Given the description of an element on the screen output the (x, y) to click on. 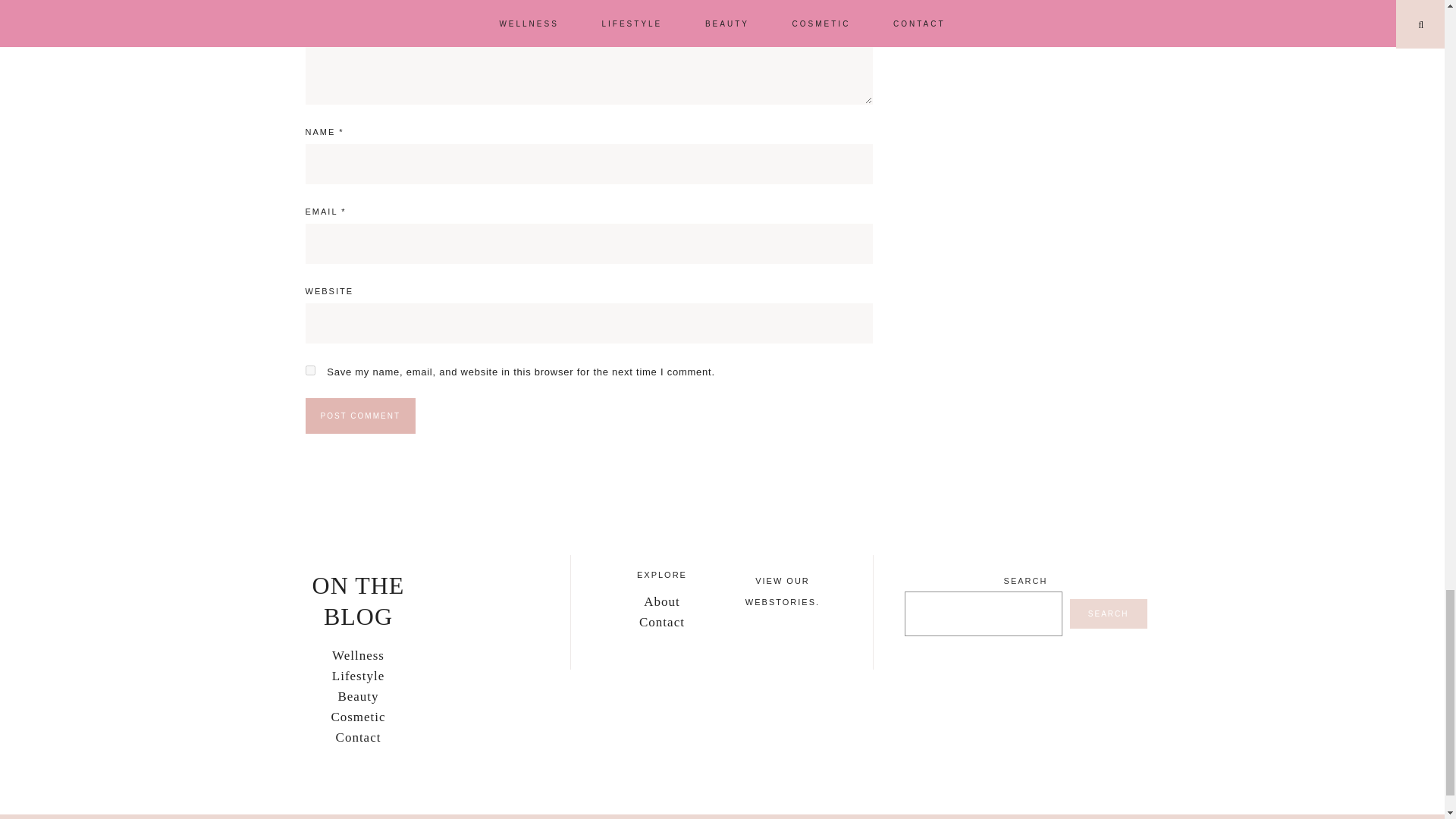
About (661, 601)
Contact (661, 622)
Lifestyle (357, 676)
Post Comment (359, 416)
yes (309, 370)
Wellness (357, 655)
Beauty (357, 696)
Post Comment (359, 416)
Cosmetic (357, 716)
Contact (358, 737)
